Given the description of an element on the screen output the (x, y) to click on. 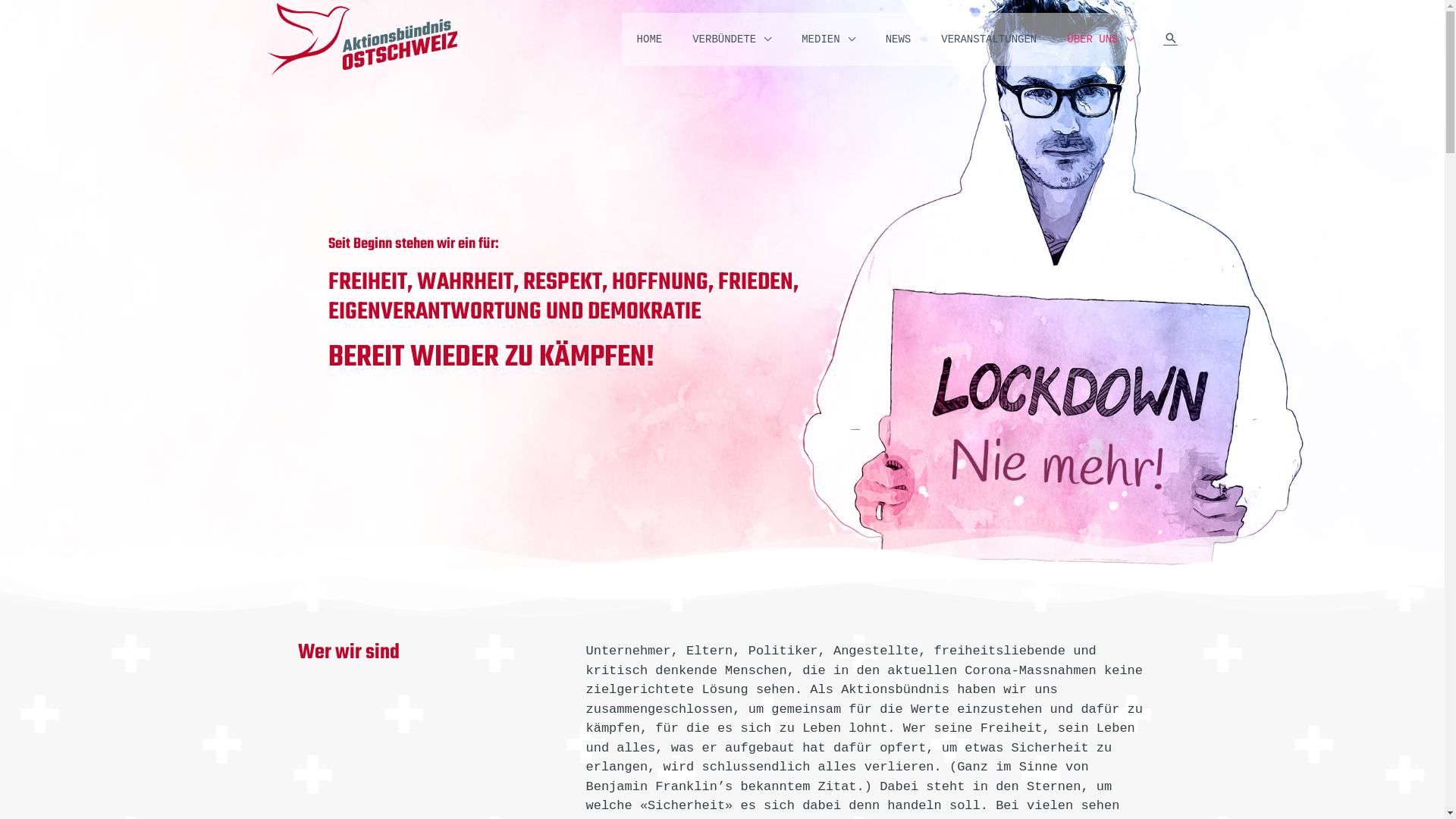
VERANSTALTUNGEN Element type: text (988, 38)
MEDIEN Element type: text (827, 38)
NEWS Element type: text (898, 38)
HOME Element type: text (649, 38)
